Given the description of an element on the screen output the (x, y) to click on. 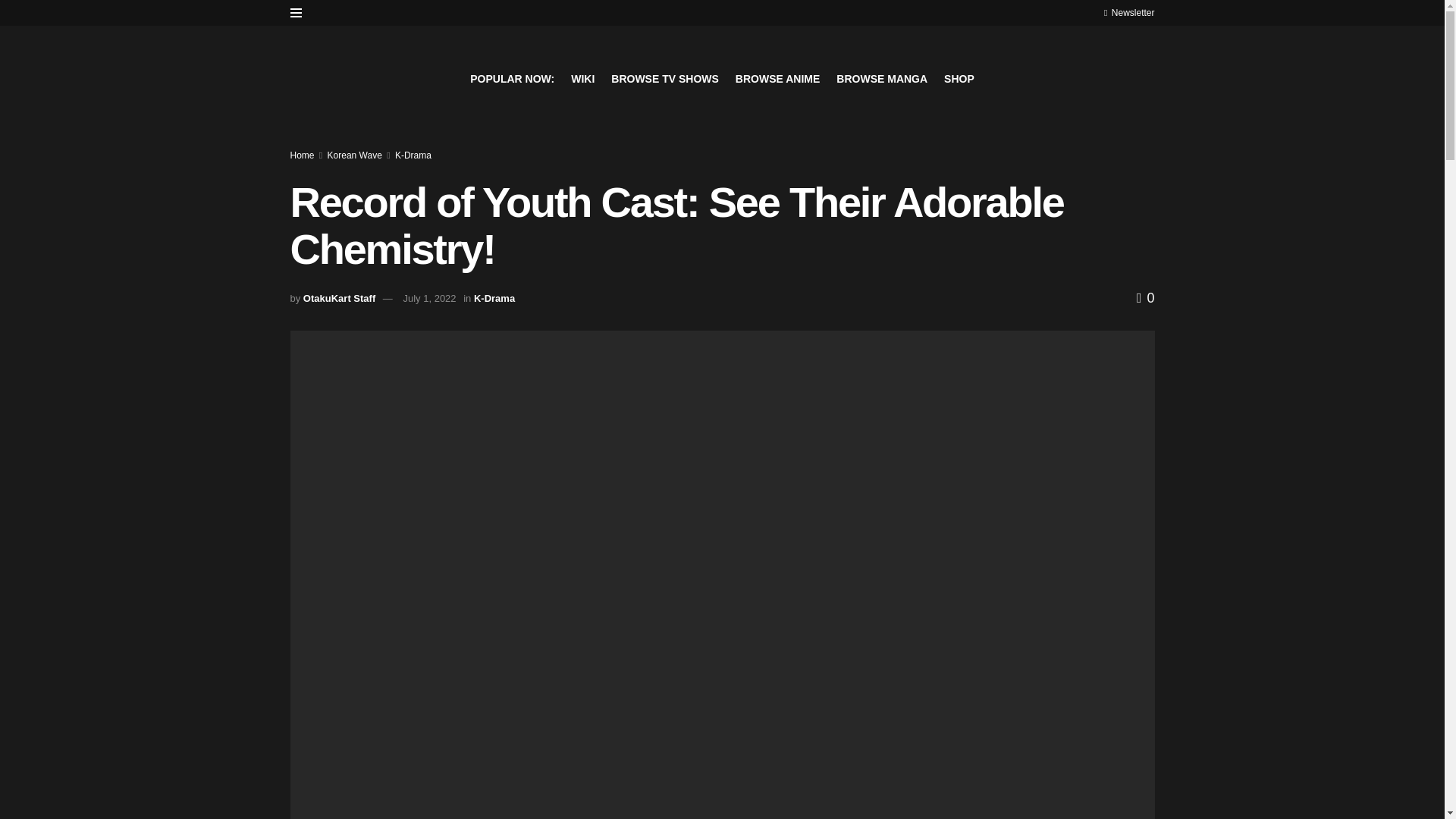
BROWSE TV SHOWS (665, 78)
Korean Wave (354, 154)
Home (301, 154)
OtakuKart Staff (338, 297)
0 (1145, 297)
K-Drama (412, 154)
July 1, 2022 (429, 297)
K-Drama (494, 297)
Newsletter (1128, 12)
POPULAR NOW: (512, 78)
